Given the description of an element on the screen output the (x, y) to click on. 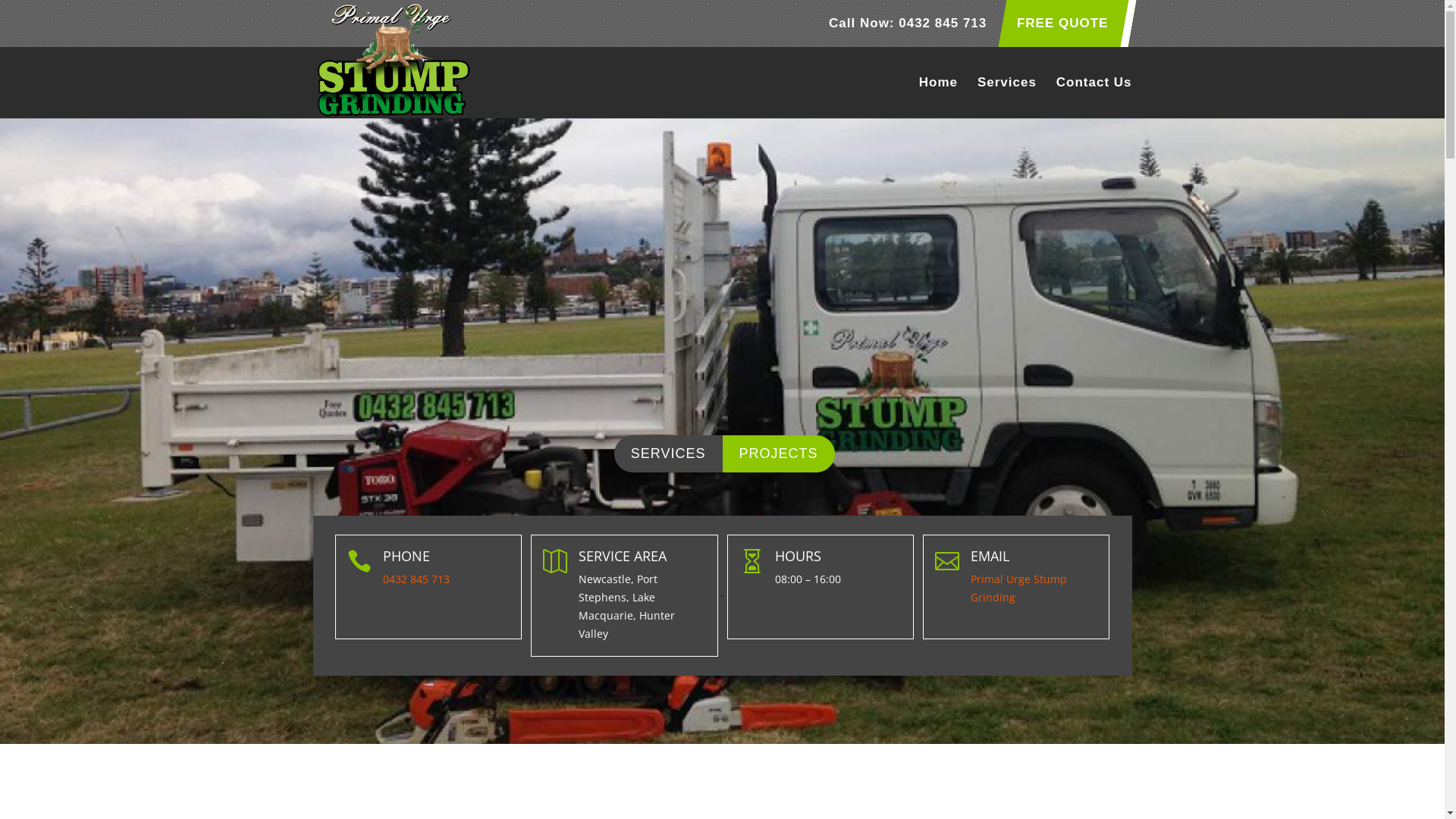
EMAIL Element type: text (989, 555)
HOURS Element type: text (798, 555)
PHONE Element type: text (405, 555)
0432 845 713 Element type: text (415, 578)
Services Element type: text (1006, 97)
Primal Urge Stump Grinding Element type: text (1018, 587)
PROJECTS Element type: text (777, 453)
Home Element type: text (938, 97)
Contact Us Element type: text (1094, 97)
Call Now: 0432 845 713 Element type: text (907, 27)
SERVICES Element type: text (668, 453)
FREE QUOTE Element type: text (1062, 27)
